Given the description of an element on the screen output the (x, y) to click on. 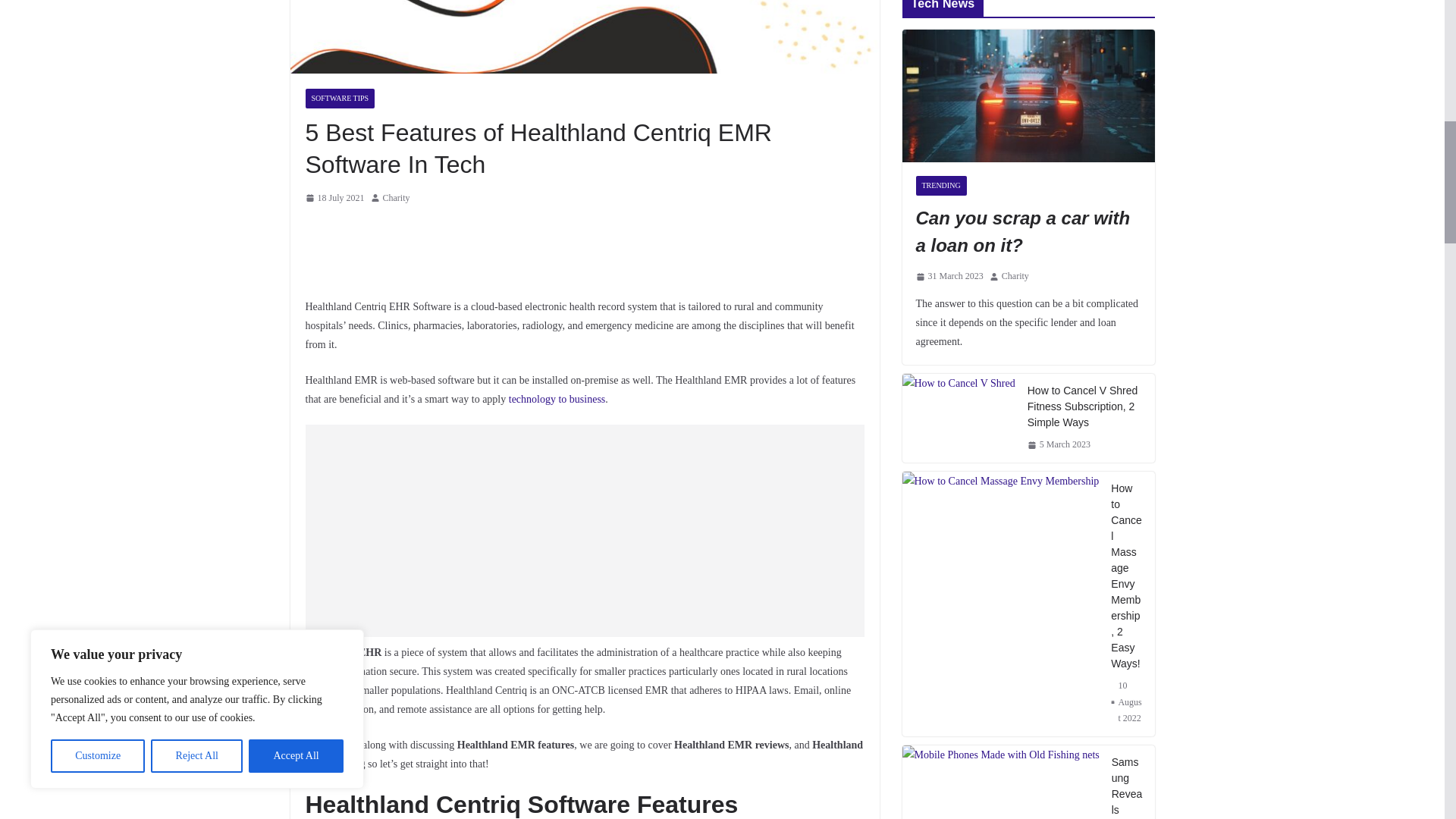
18 July 2021 (334, 198)
Charity (396, 198)
technology to business (556, 398)
SOFTWARE TIPS (339, 98)
Charity (396, 198)
Advertisement (583, 531)
1:24 am (334, 198)
5 Best Features of Healthland Centriq EMR Software In Tech 1 (584, 36)
